Given the description of an element on the screen output the (x, y) to click on. 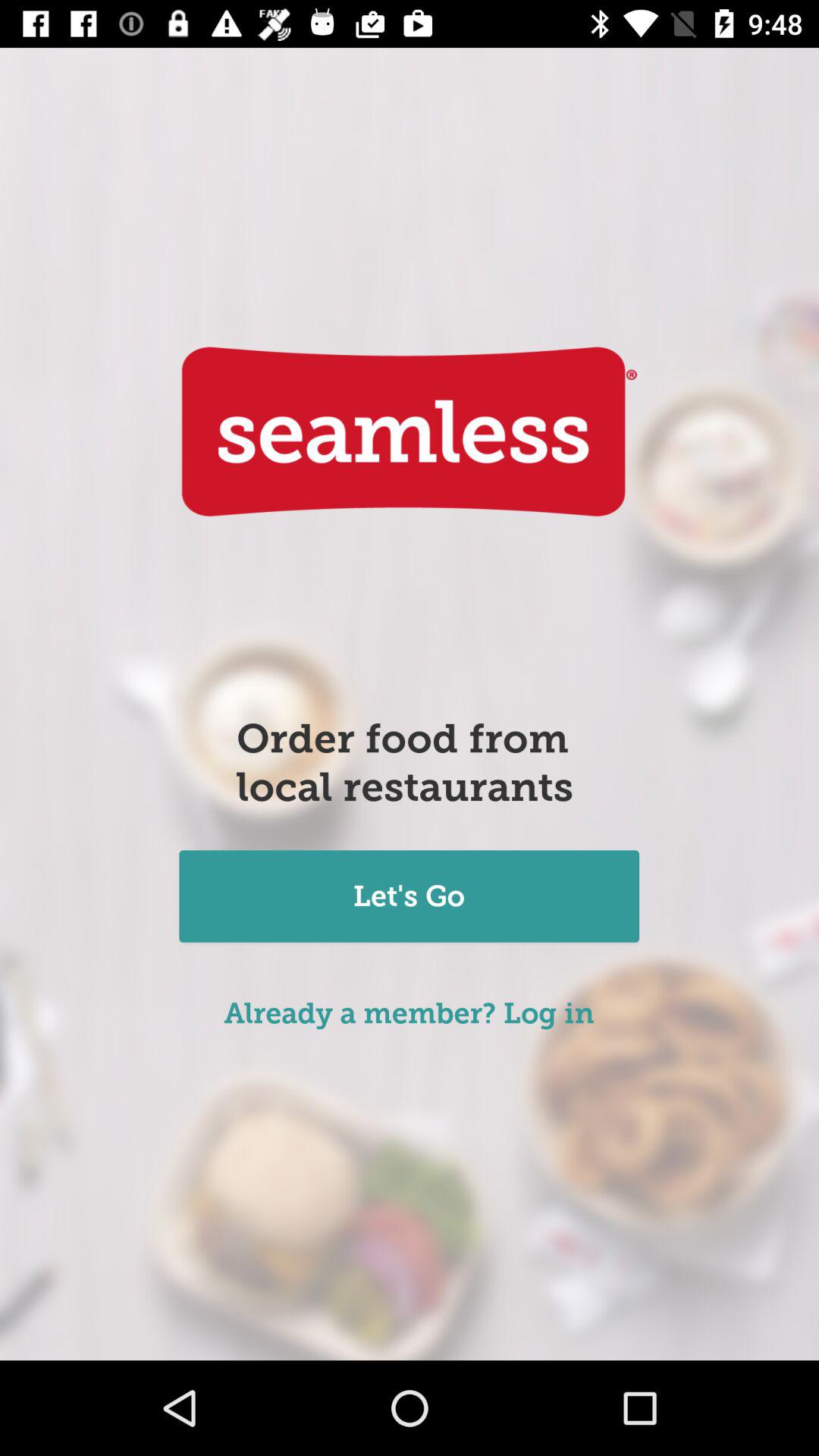
turn on item below the order food from (409, 897)
